Given the description of an element on the screen output the (x, y) to click on. 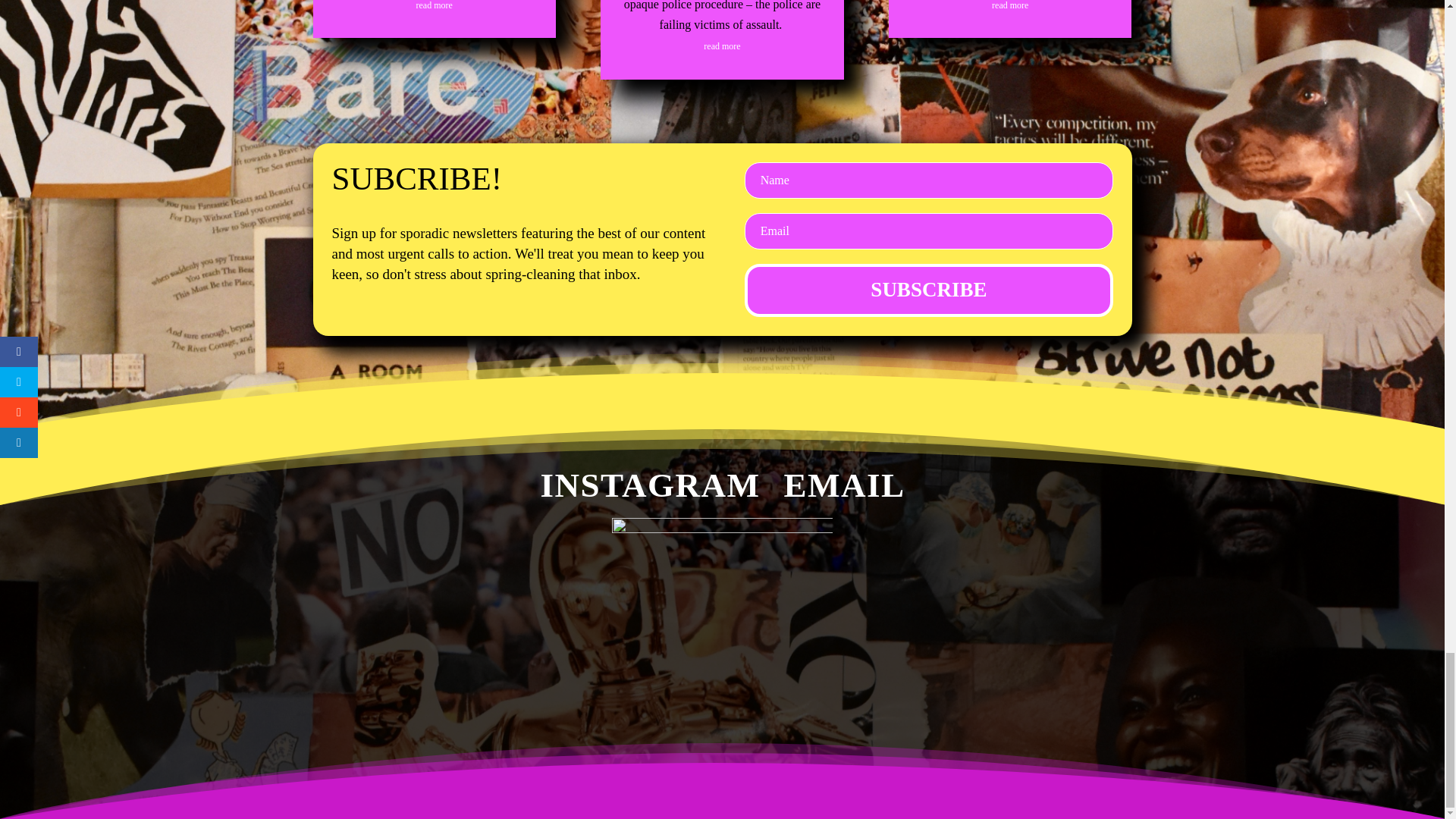
read more (1009, 5)
SUBSCRIBE (928, 289)
EMAIL (826, 476)
INSTAGRAM (617, 476)
read more (721, 45)
read more (434, 5)
